Given the description of an element on the screen output the (x, y) to click on. 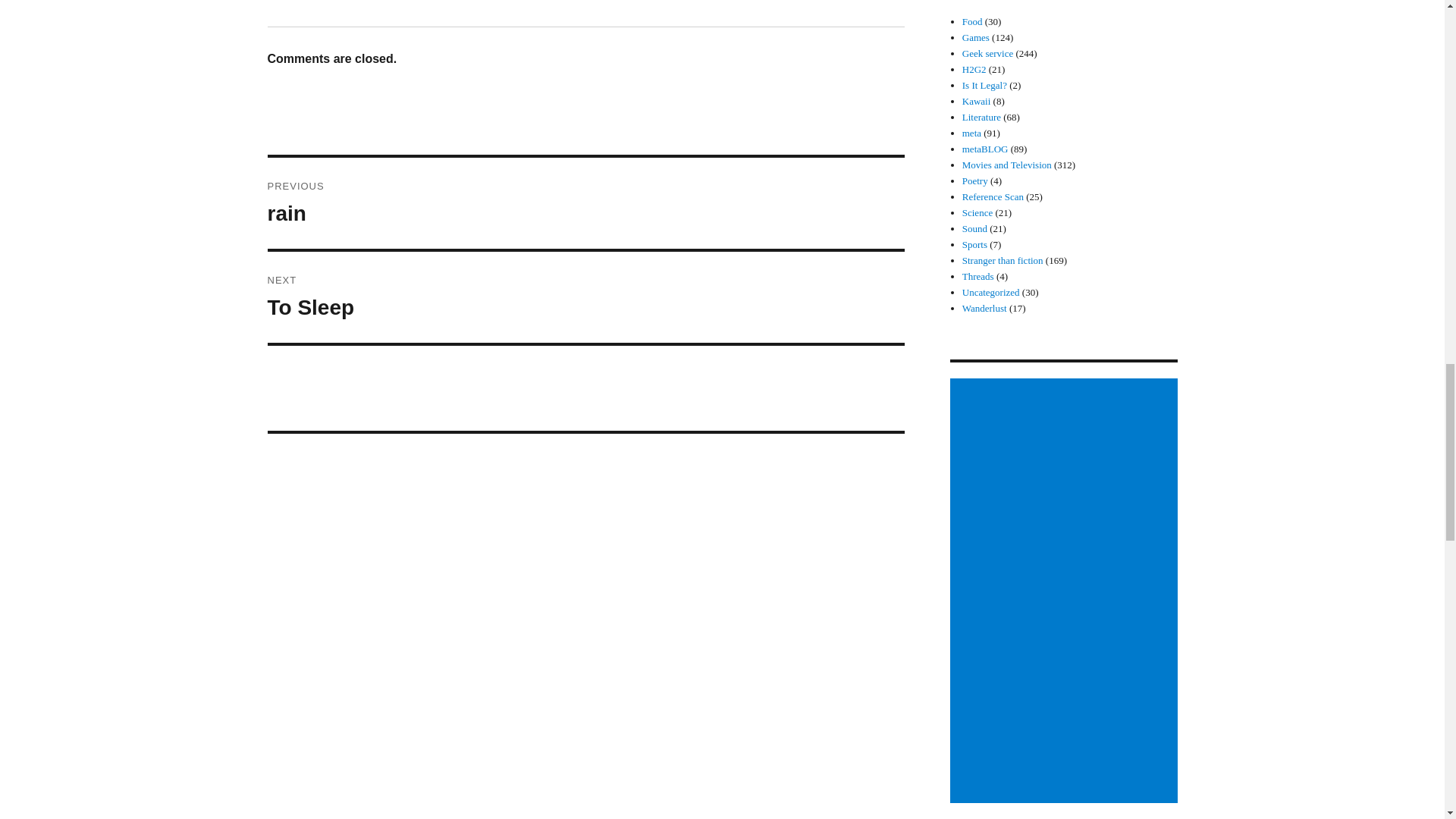
Food (585, 203)
Kawaii (972, 21)
Literature (976, 101)
Is It Legal? (981, 116)
Geek service (984, 84)
H2G2 (987, 52)
Games (974, 69)
Fitness (976, 37)
